Given the description of an element on the screen output the (x, y) to click on. 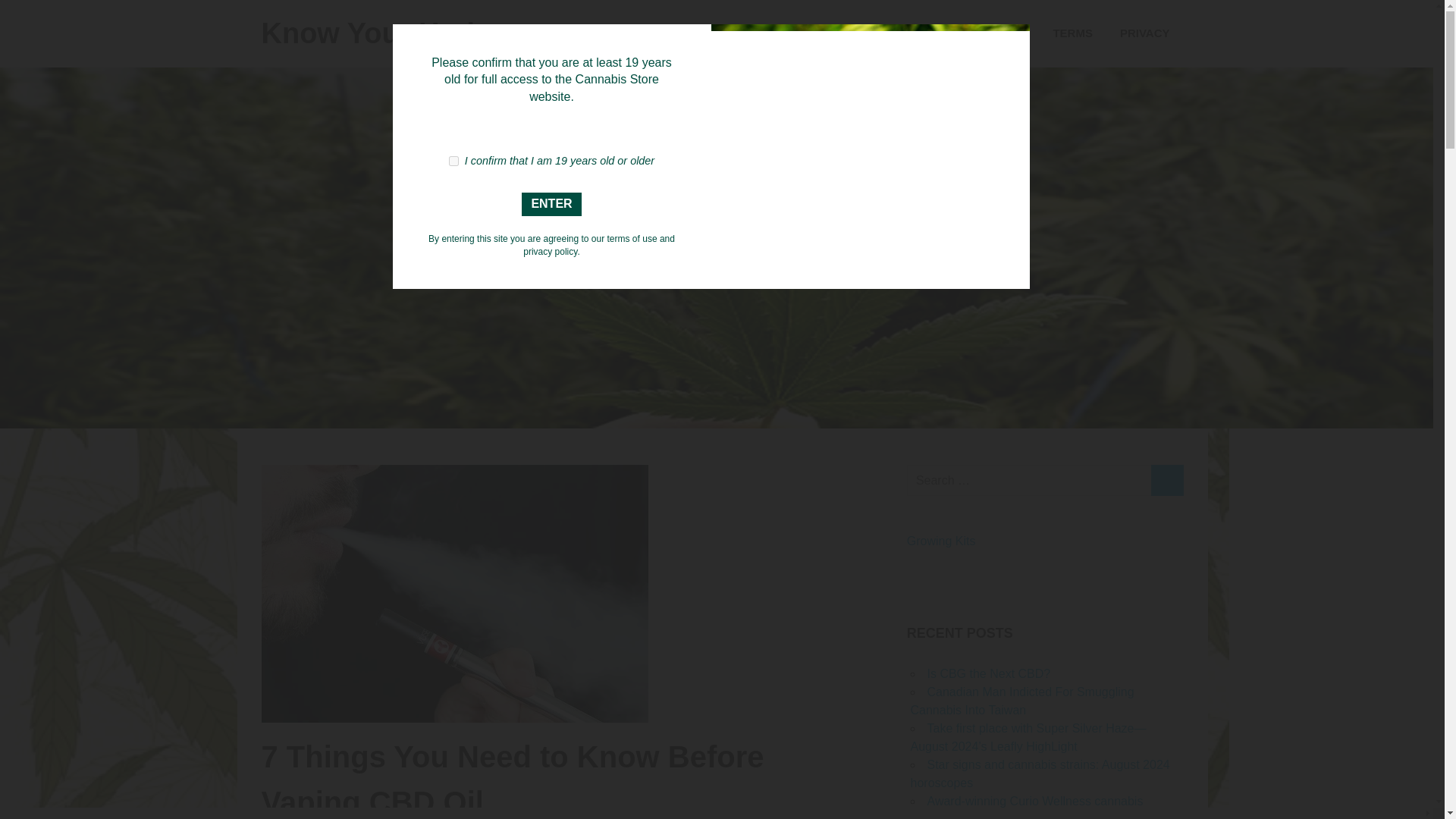
Star signs and cannabis strains: August 2024 horoscopes (1039, 773)
Is CBG the Next CBD? (987, 673)
Growing Kits (941, 540)
Canadian Man Indicted For Smuggling Cannabis Into Taiwan (1022, 700)
TERMS (1072, 33)
SEARCH (1166, 480)
on (453, 161)
Search for: (1029, 480)
PRIVACY (1144, 33)
